Given the description of an element on the screen output the (x, y) to click on. 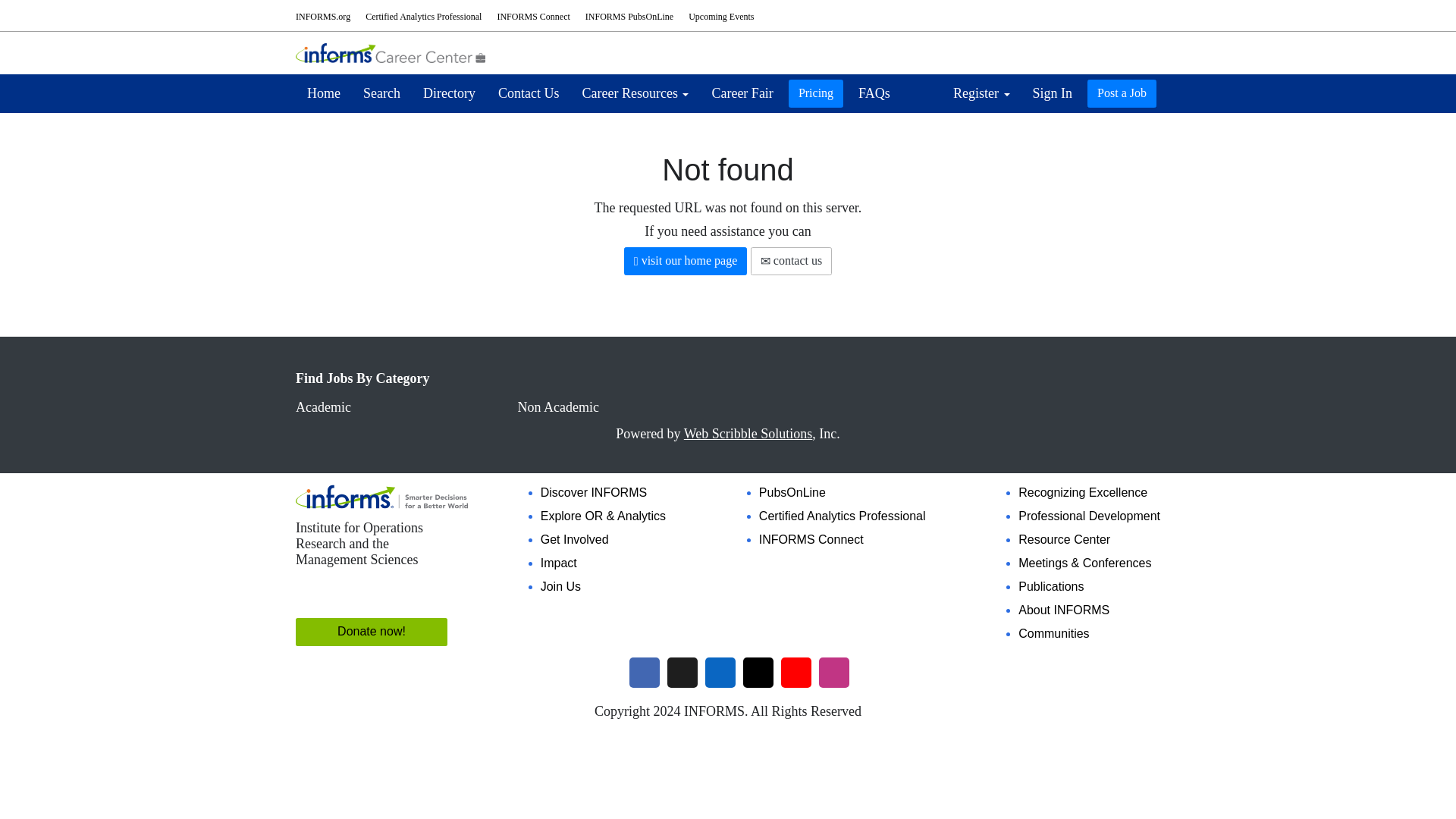
visit our home page (685, 261)
Career Fair (742, 93)
INFORMS Connect (532, 16)
Upcoming Events (721, 16)
Pricing (816, 93)
INFORMS.org (322, 16)
INFORMS PubsOnLine (628, 16)
Join Us (560, 585)
Web Scribble Solutions (748, 433)
Get Involved (574, 539)
